Given the description of an element on the screen output the (x, y) to click on. 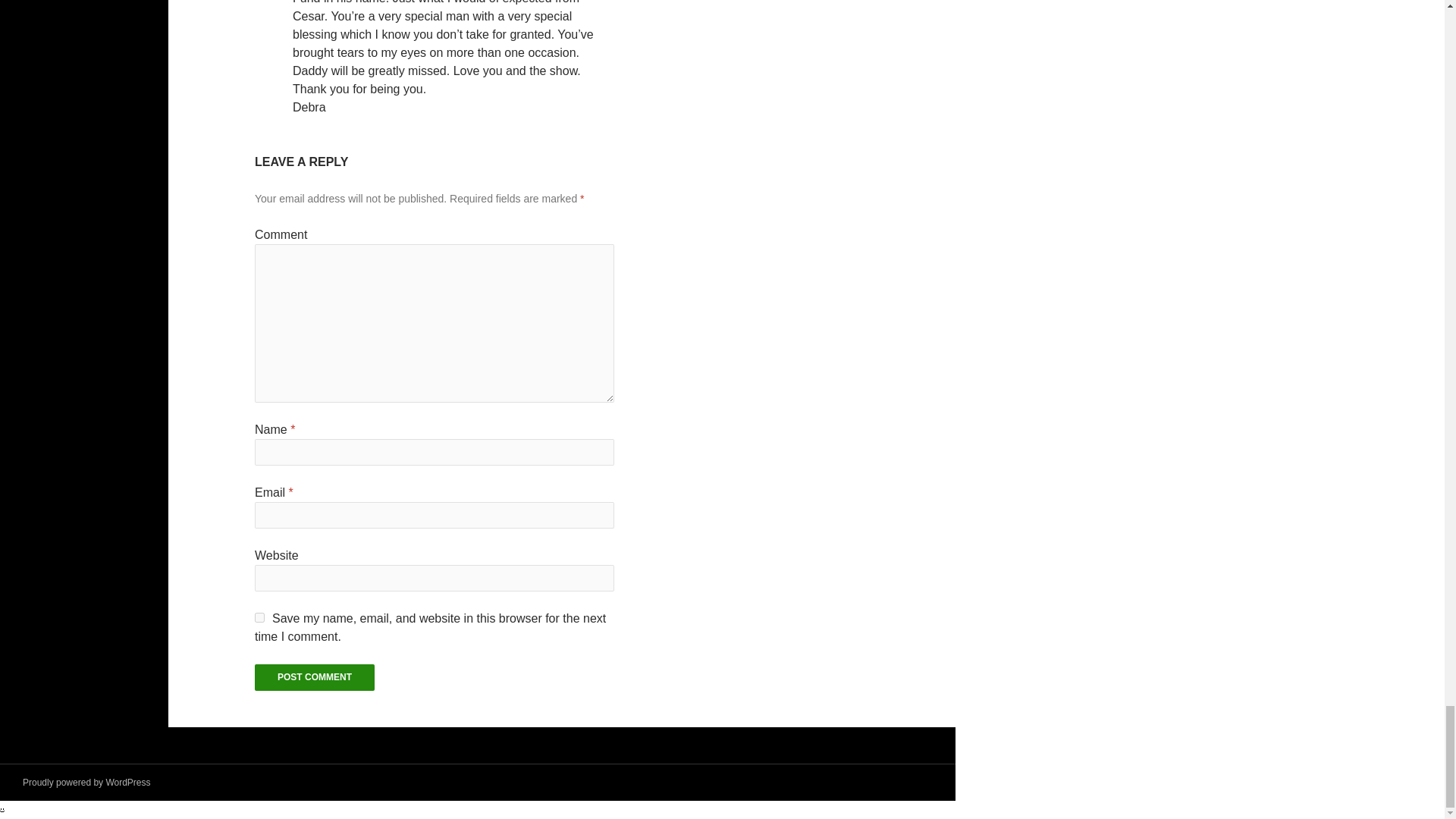
yes (259, 617)
Post Comment (314, 677)
